Given the description of an element on the screen output the (x, y) to click on. 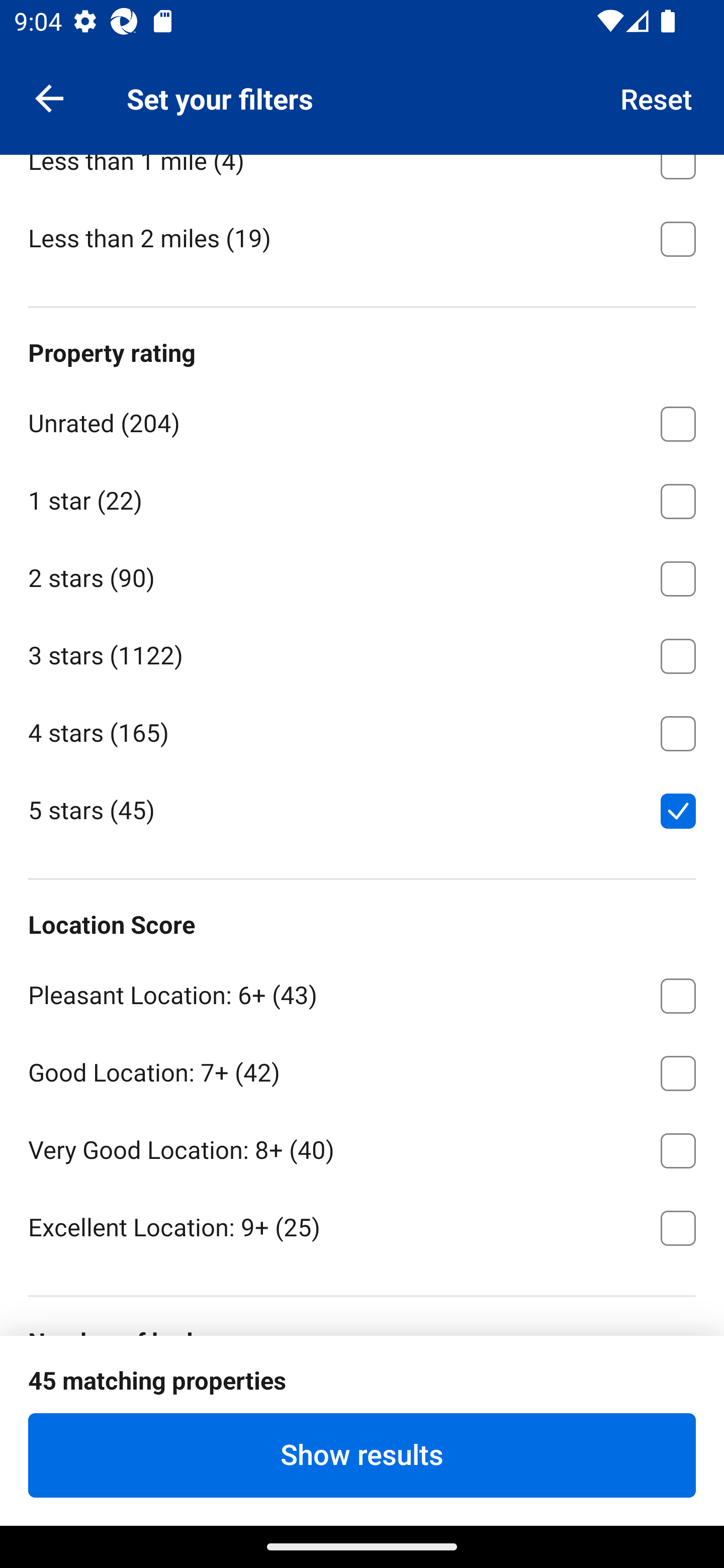
Less than 1/2 mile ⁦(2) (361, 80)
Navigate up (49, 97)
Reset (656, 97)
Less than 1 mile ⁦(4) (361, 176)
Less than 2 miles ⁦(19) (361, 237)
Unrated ⁦(204) (361, 420)
1 star ⁦(22) (361, 497)
2 stars ⁦(90) (361, 575)
3 stars ⁦(1122) (361, 652)
4 stars ⁦(165) (361, 729)
5 stars ⁦(45) (361, 808)
Pleasant Location: 6+ ⁦(43) (361, 992)
Good Location: 7+ ⁦(42) (361, 1069)
Very Good Location: 8+ ⁦(40) (361, 1146)
Excellent Location: 9+ ⁦(25) (361, 1225)
Show results (361, 1454)
